Given the description of an element on the screen output the (x, y) to click on. 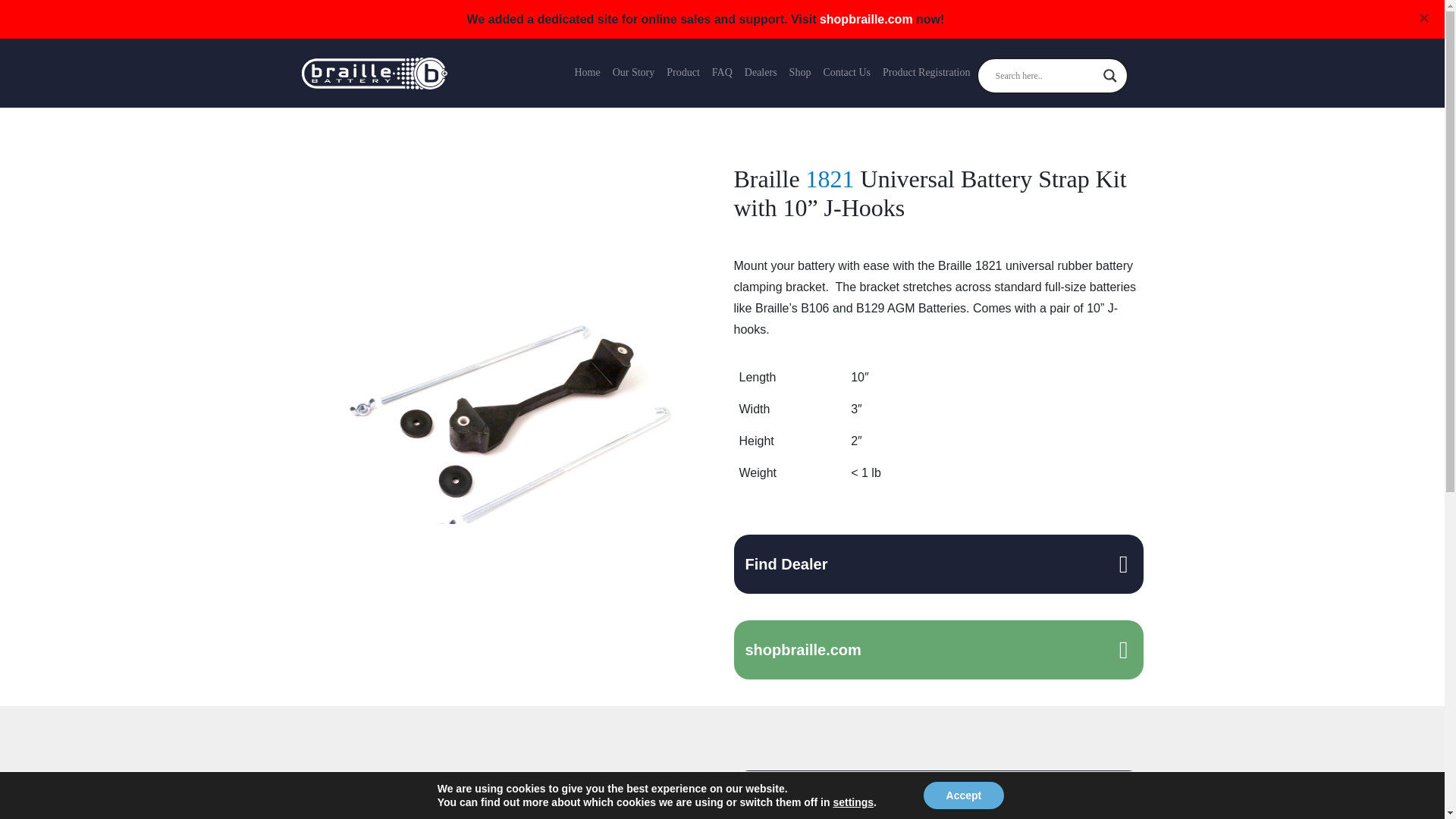
Dealers (937, 563)
Product Registration (926, 72)
shopbraille (937, 649)
Get Started With Your Custom Battery Solution (937, 794)
Product Registration (926, 72)
Custom Solutions (937, 794)
settings (852, 802)
Find Dealer (937, 563)
Accept (963, 795)
Braille Battery (373, 72)
